Given the description of an element on the screen output the (x, y) to click on. 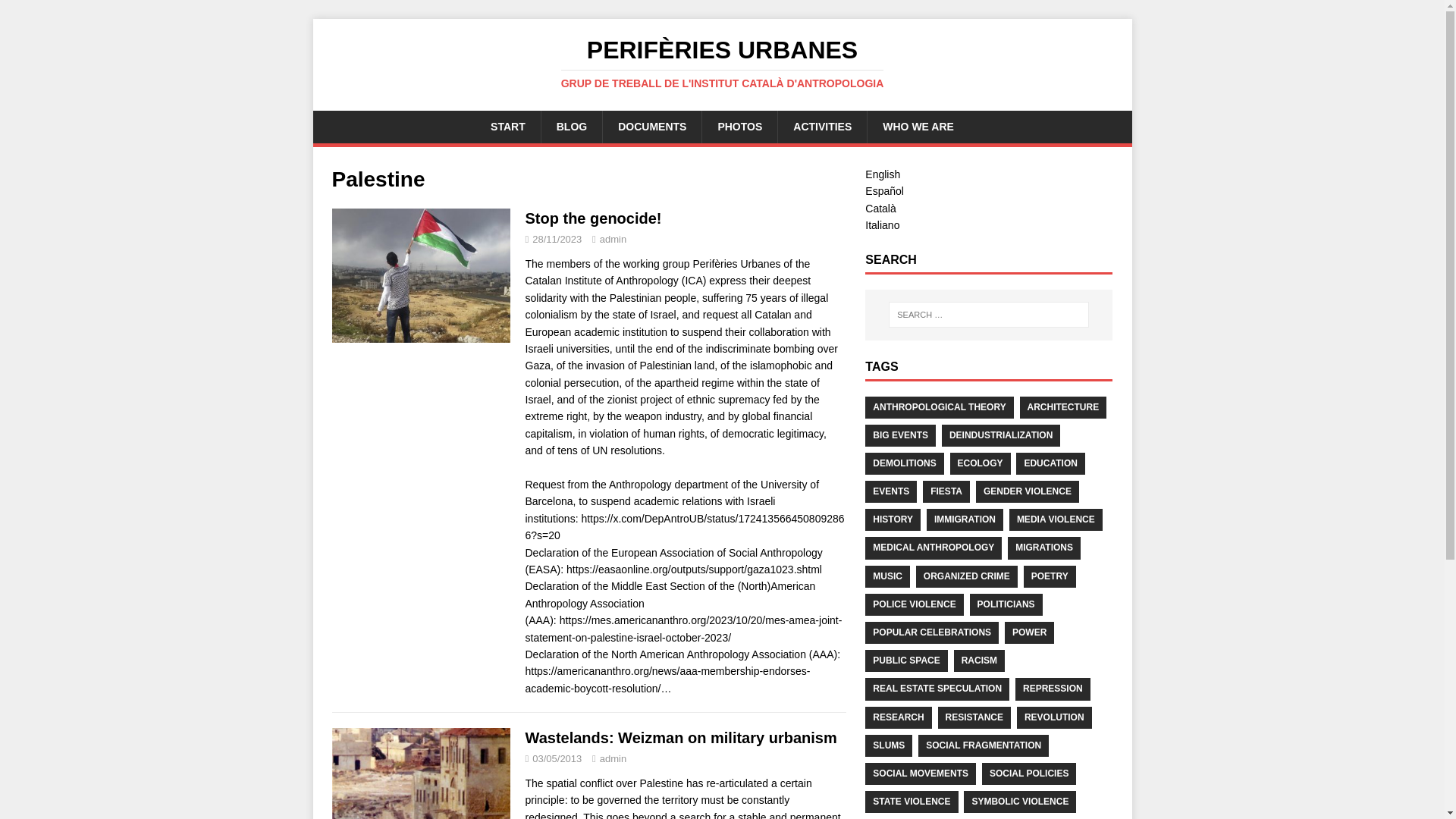
Wastelands: Weizman on military urbanism (679, 737)
ACTIVITIES (821, 126)
PHOTOS (739, 126)
ECOLOGY (980, 463)
Italiano (881, 224)
ARCHITECTURE (1063, 407)
DEINDUSTRIALIZATION (1000, 435)
Search (56, 11)
WHO WE ARE (917, 126)
FIESTA (946, 491)
ANTHROPOLOGICAL THEORY (938, 407)
EDUCATION (1050, 463)
DOCUMENTS (651, 126)
English (881, 174)
BIG EVENTS (900, 435)
